Given the description of an element on the screen output the (x, y) to click on. 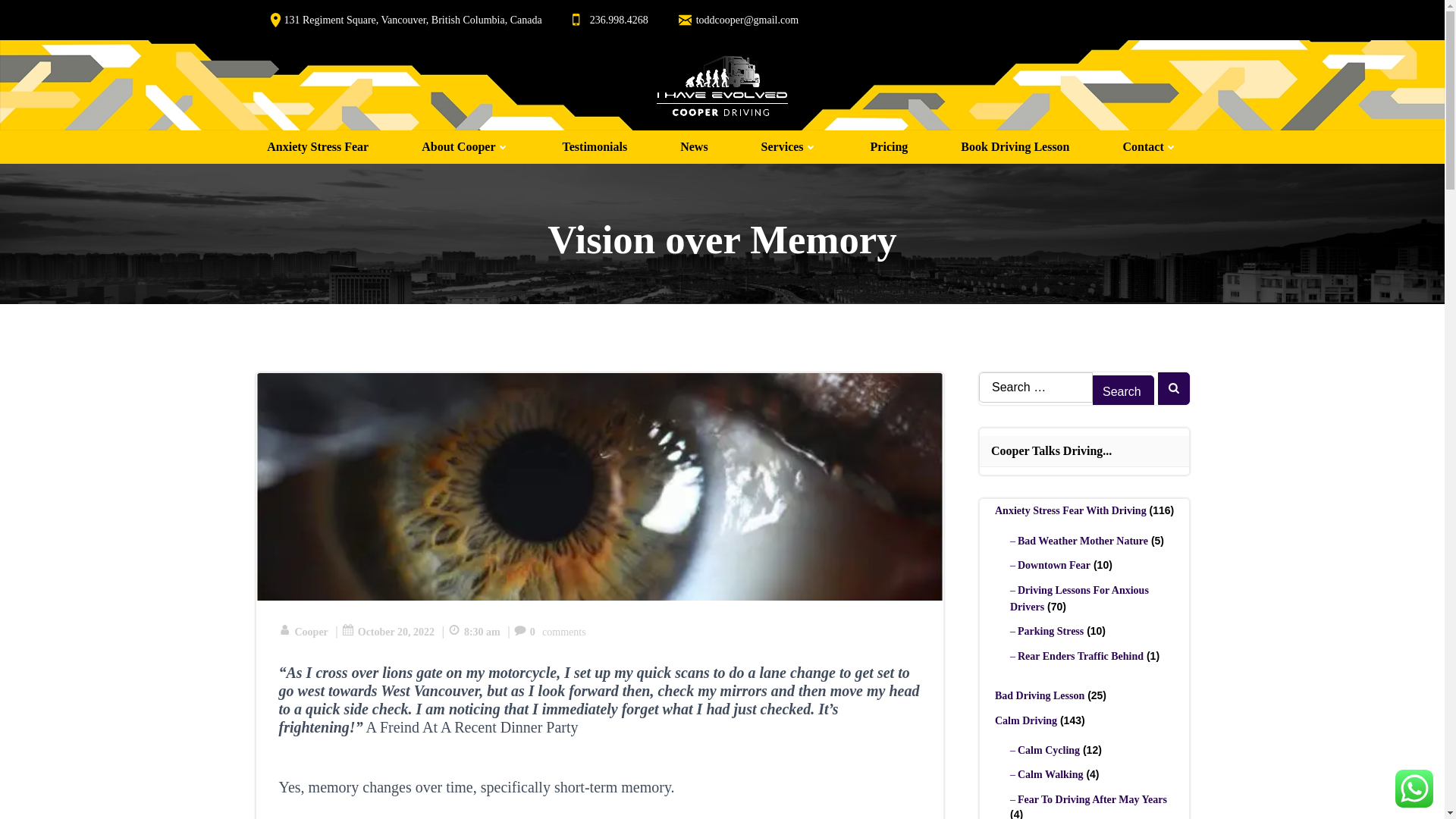
News (693, 147)
Book Driving Lesson (1014, 147)
Search  (1123, 391)
About Cooper (465, 147)
Services (788, 147)
Anxiety Stress Fear (317, 147)
Cooper (304, 632)
Contact (1149, 147)
8:30 am (474, 632)
Search  (1123, 391)
October 20, 2022 (387, 632)
Testimonials (594, 147)
Search  (1123, 391)
0 (524, 632)
Pricing (889, 147)
